Given the description of an element on the screen output the (x, y) to click on. 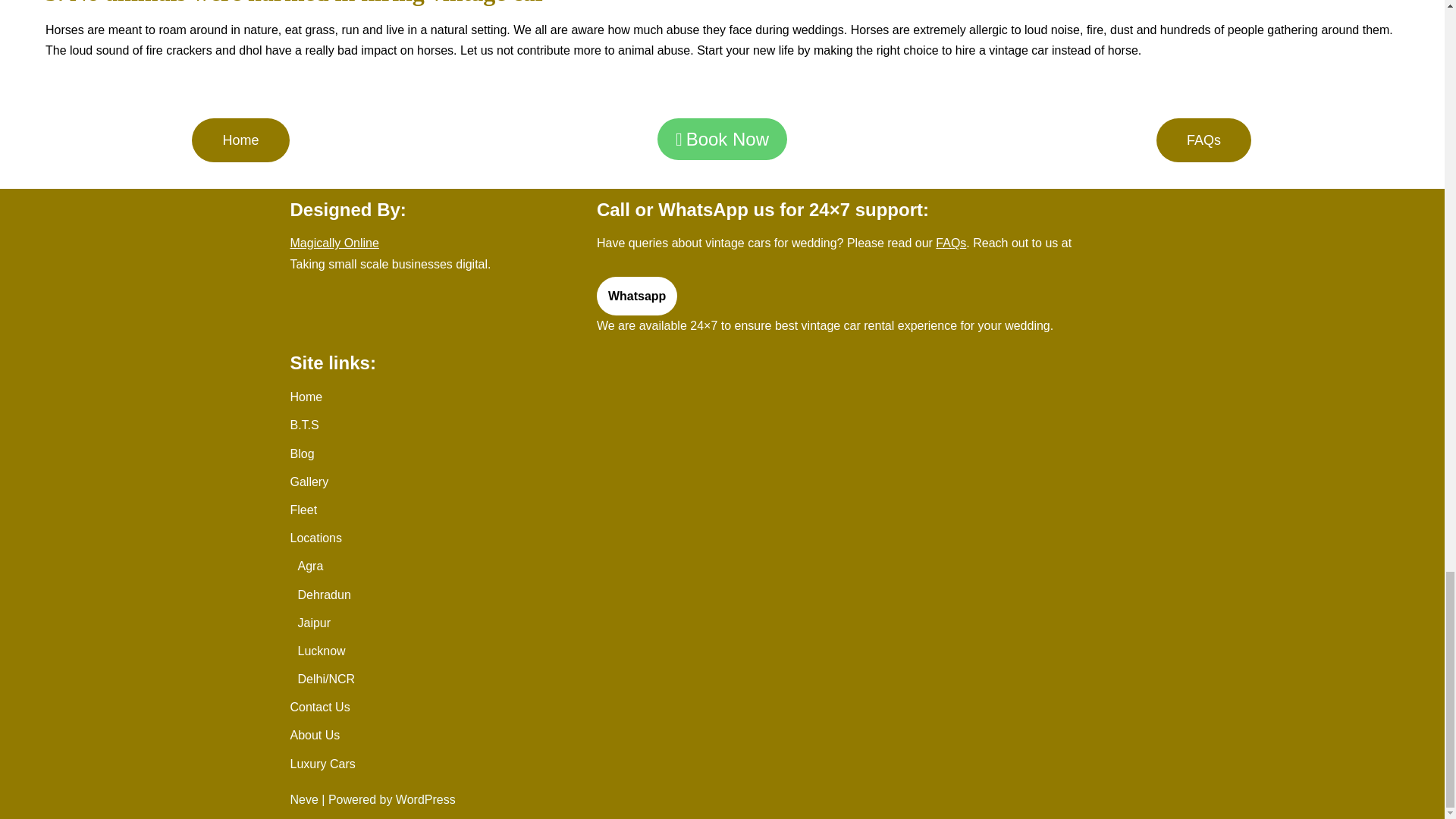
Whatsapp (636, 296)
FAQs (951, 242)
Whatsapp (636, 296)
FAQs (1203, 139)
Magically Online (333, 242)
Home (240, 139)
Book Now (722, 138)
